Given the description of an element on the screen output the (x, y) to click on. 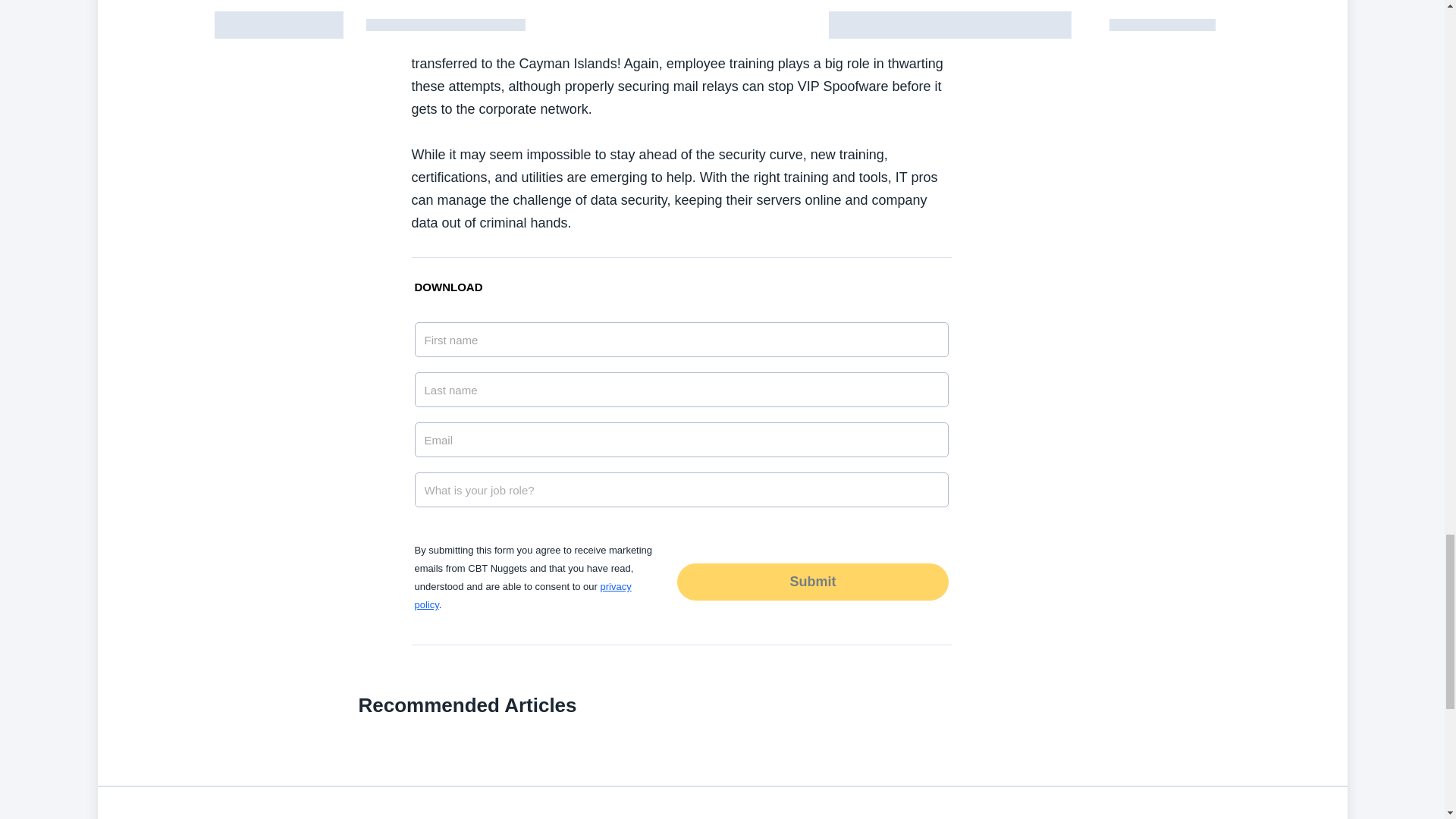
privacy policy (521, 595)
Submit (812, 580)
